Given the description of an element on the screen output the (x, y) to click on. 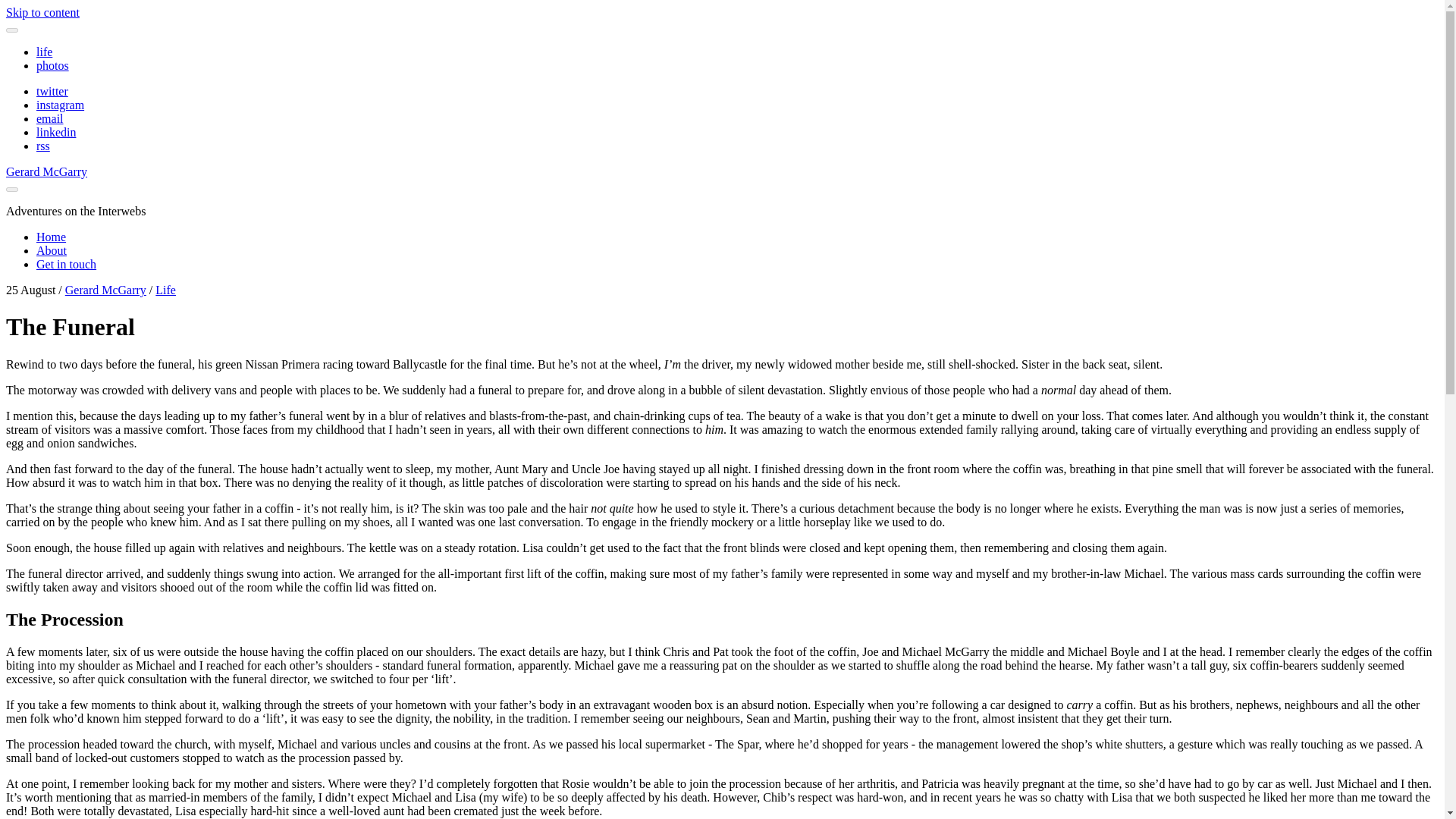
Skip to content (42, 11)
twitter (52, 91)
instagram (60, 104)
linkedin (55, 132)
Gerard McGarry (46, 171)
Get in touch (66, 264)
email (50, 118)
About (51, 250)
Posts by Gerard McGarry (106, 289)
Gerard McGarry (106, 289)
rss (42, 145)
Home (50, 236)
Life (165, 289)
life (44, 51)
photos (52, 65)
